Given the description of an element on the screen output the (x, y) to click on. 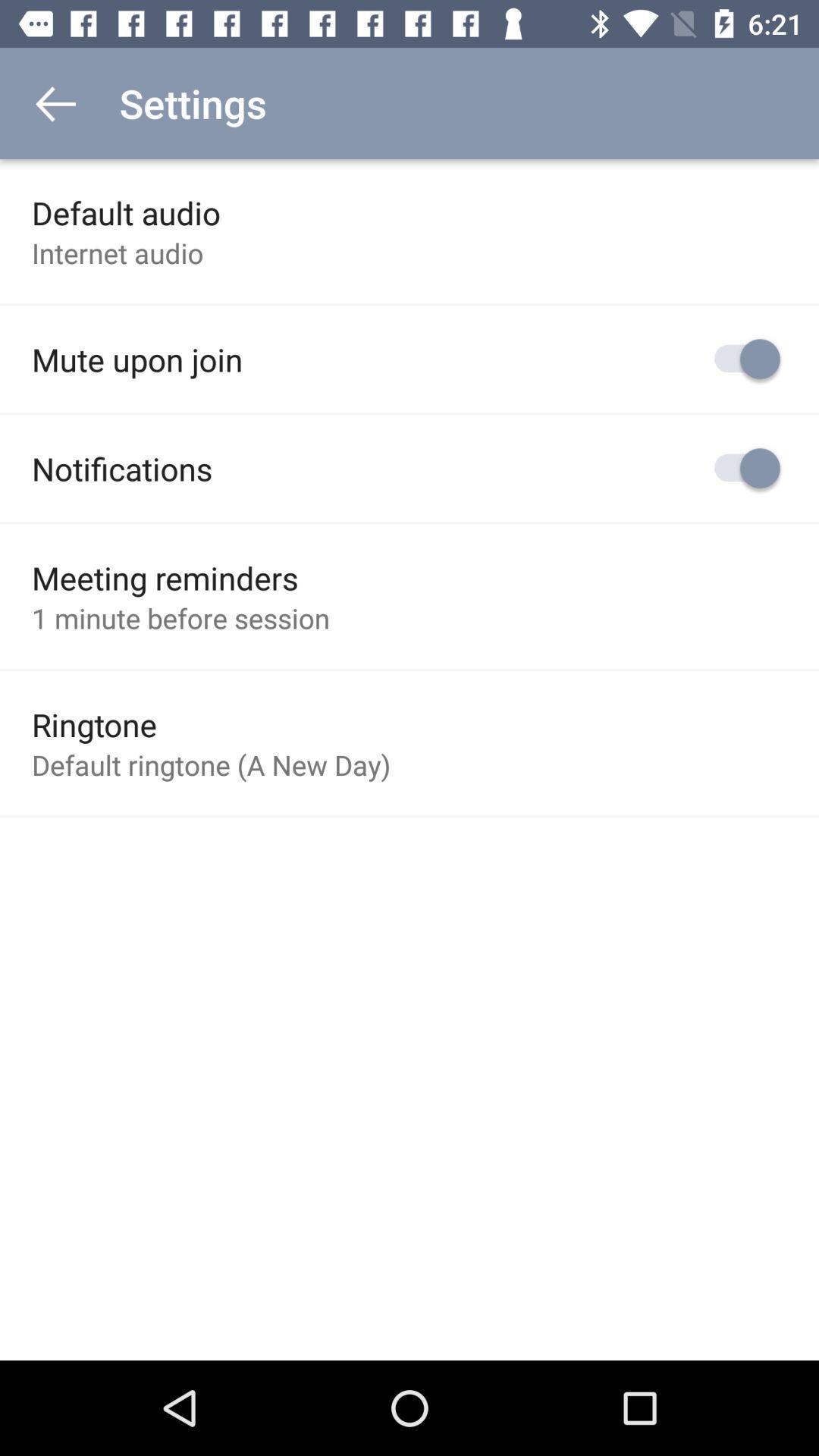
turn off item above the ringtone item (180, 618)
